Given the description of an element on the screen output the (x, y) to click on. 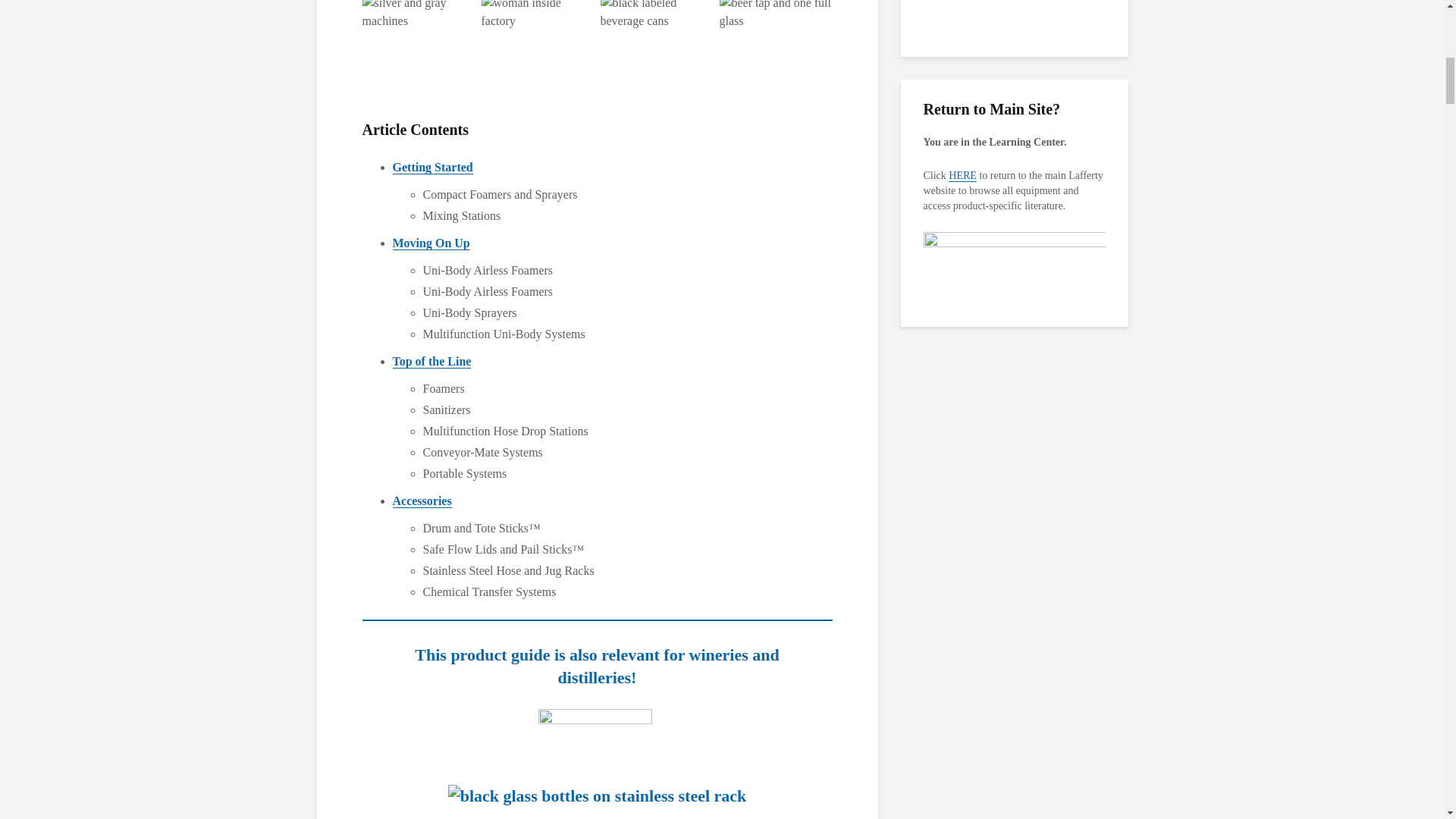
Accessories (422, 500)
Getting Started (433, 167)
Top of the Line (432, 361)
Moving On Up (431, 243)
